Given the description of an element on the screen output the (x, y) to click on. 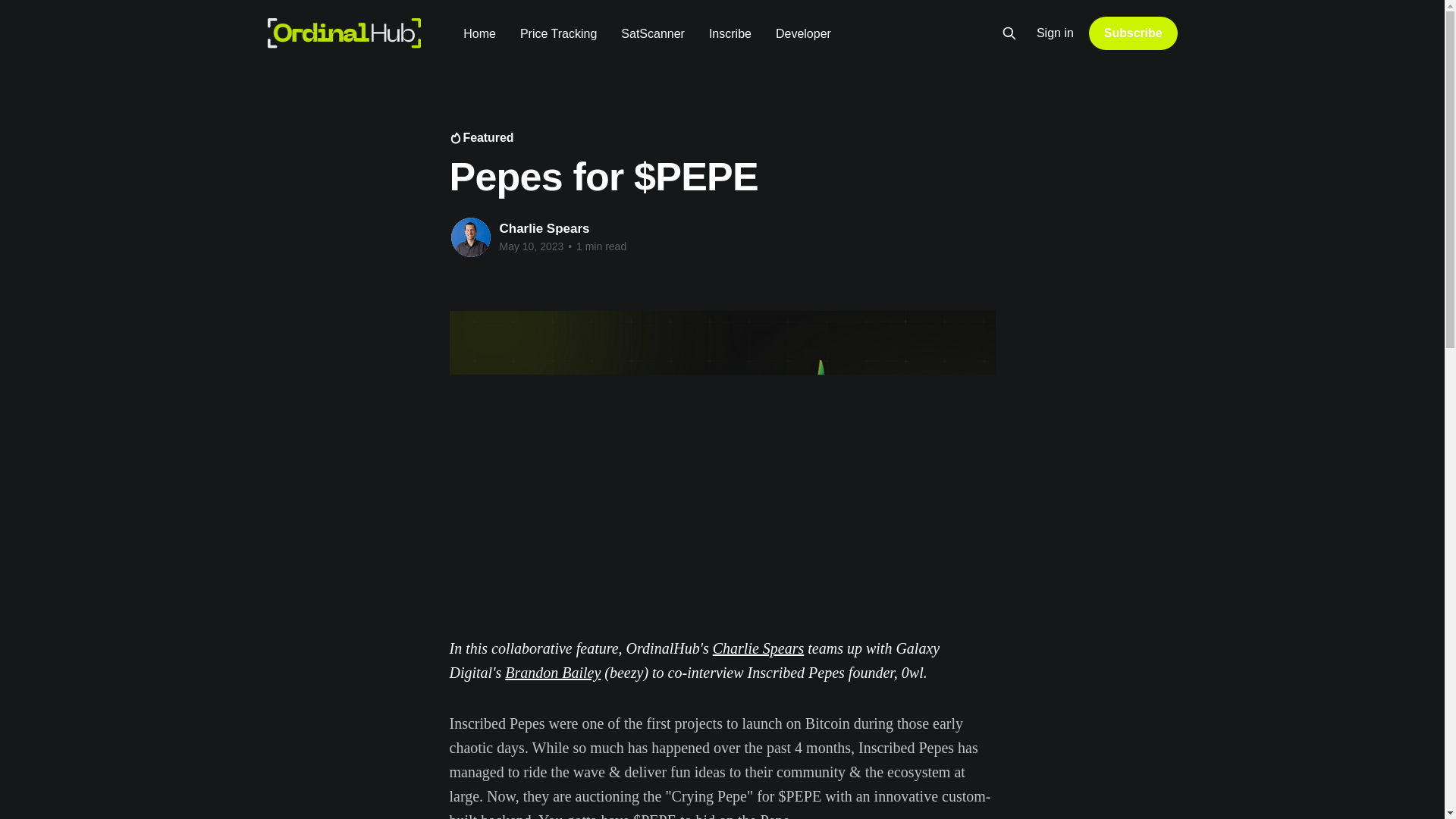
Brandon Bailey (552, 672)
Price Tracking (557, 33)
SatScanner (652, 33)
Subscribe (1133, 32)
Charlie Spears (759, 647)
Sign in (1055, 33)
Home (479, 33)
Charlie Spears (544, 228)
Developer (803, 33)
Inscribe (730, 33)
